Given the description of an element on the screen output the (x, y) to click on. 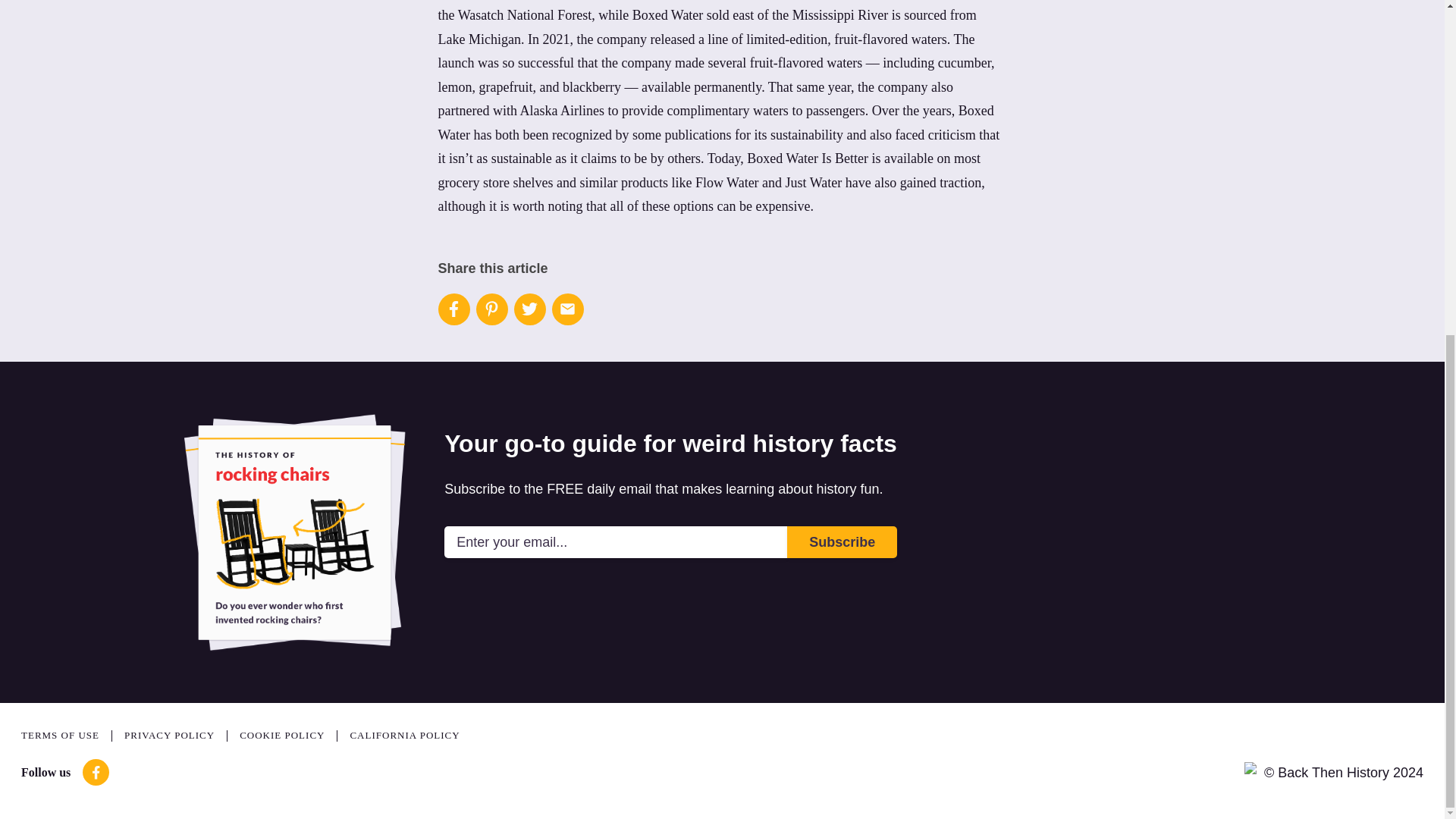
TERMS OF USE (66, 736)
PRIVACY POLICY (175, 736)
COOKIE POLICY (288, 736)
CALIFORNIA POLICY (404, 736)
Subscribe (841, 541)
